Given the description of an element on the screen output the (x, y) to click on. 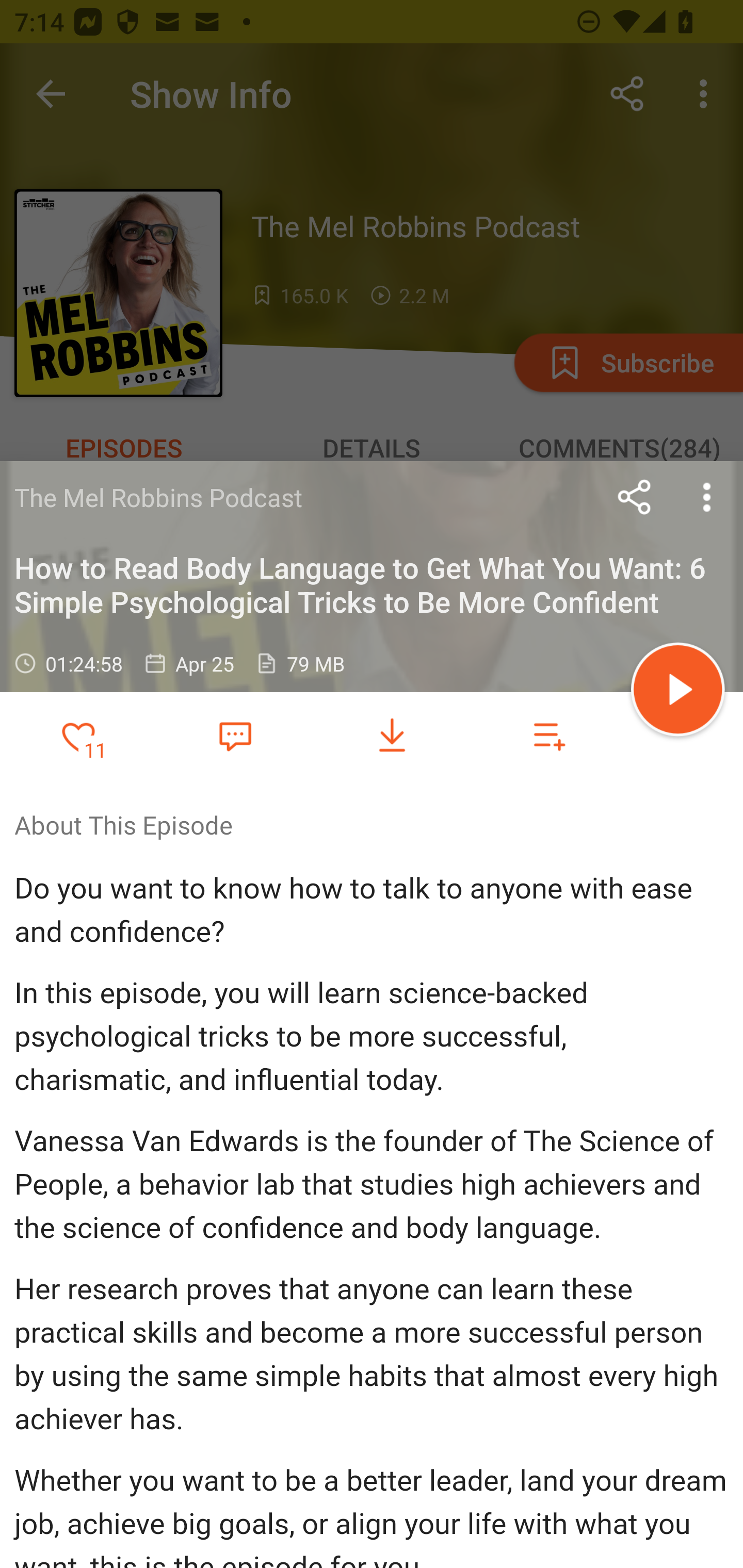
Share (634, 496)
more options (706, 496)
Play (677, 692)
Favorite (234, 735)
Add to Favorites (78, 735)
Download (391, 735)
Add to playlist (548, 735)
